Given the description of an element on the screen output the (x, y) to click on. 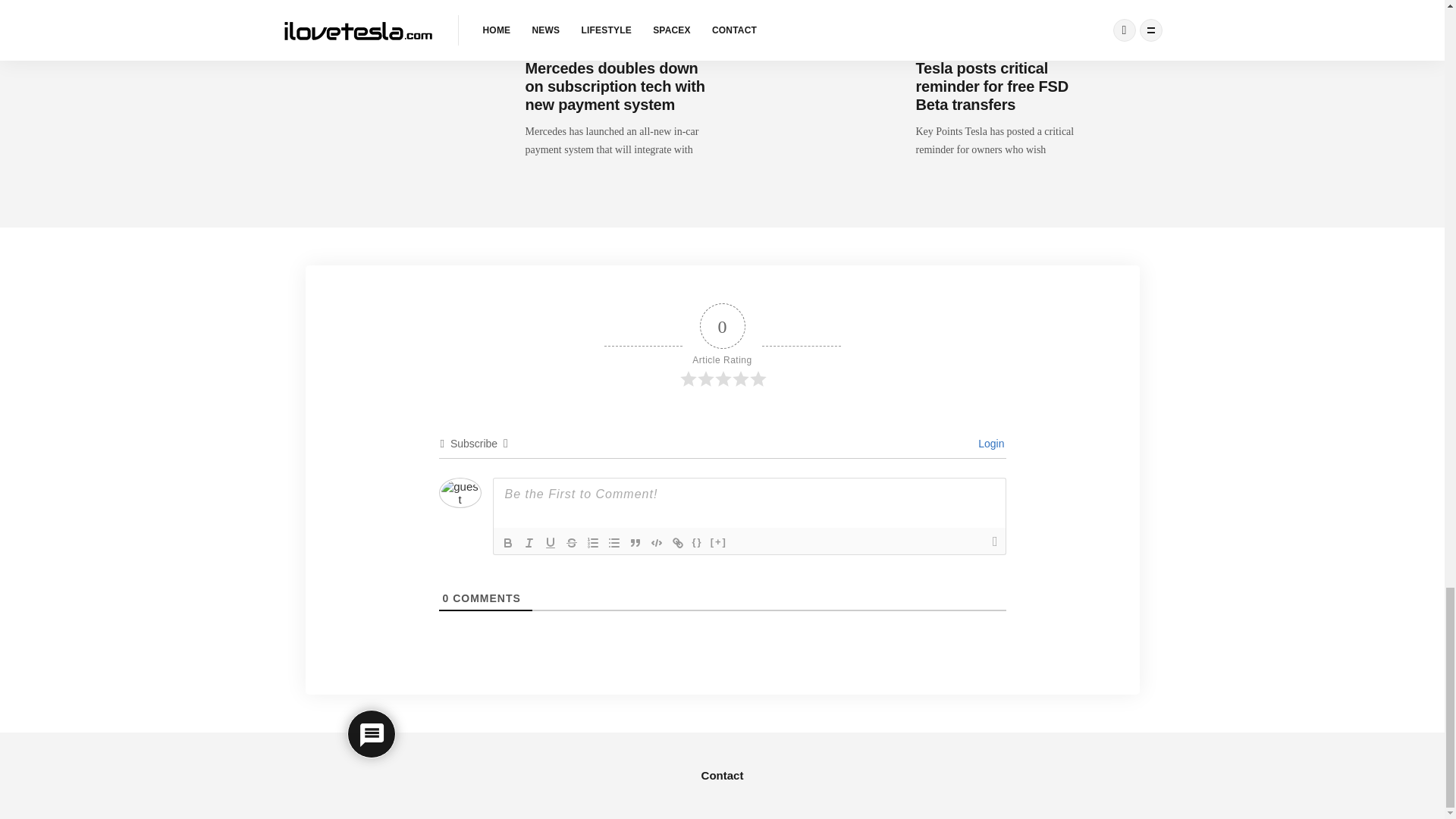
Spoiler (718, 542)
Bold (507, 542)
Italic (529, 542)
Code Block (656, 542)
Link (677, 542)
Ordered List (593, 542)
Login (989, 443)
Unordered List (614, 542)
Tesla posts critical reminder for free FSD Beta transfers (991, 86)
